Given the description of an element on the screen output the (x, y) to click on. 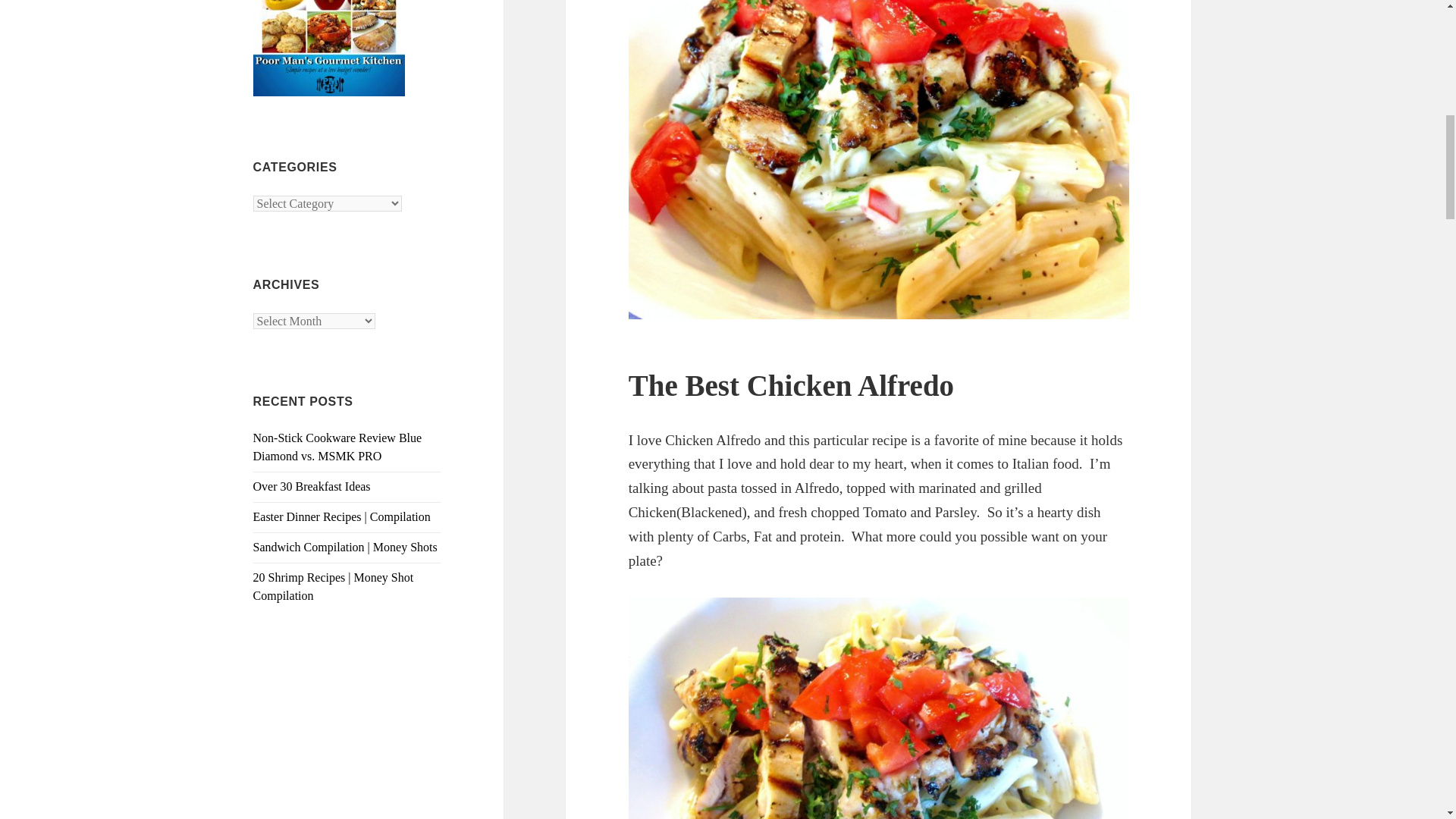
Non-Stick Cookware Review Blue Diamond vs. MSMK PRO (337, 446)
Over 30 Breakfast Ideas (312, 486)
